Given the description of an element on the screen output the (x, y) to click on. 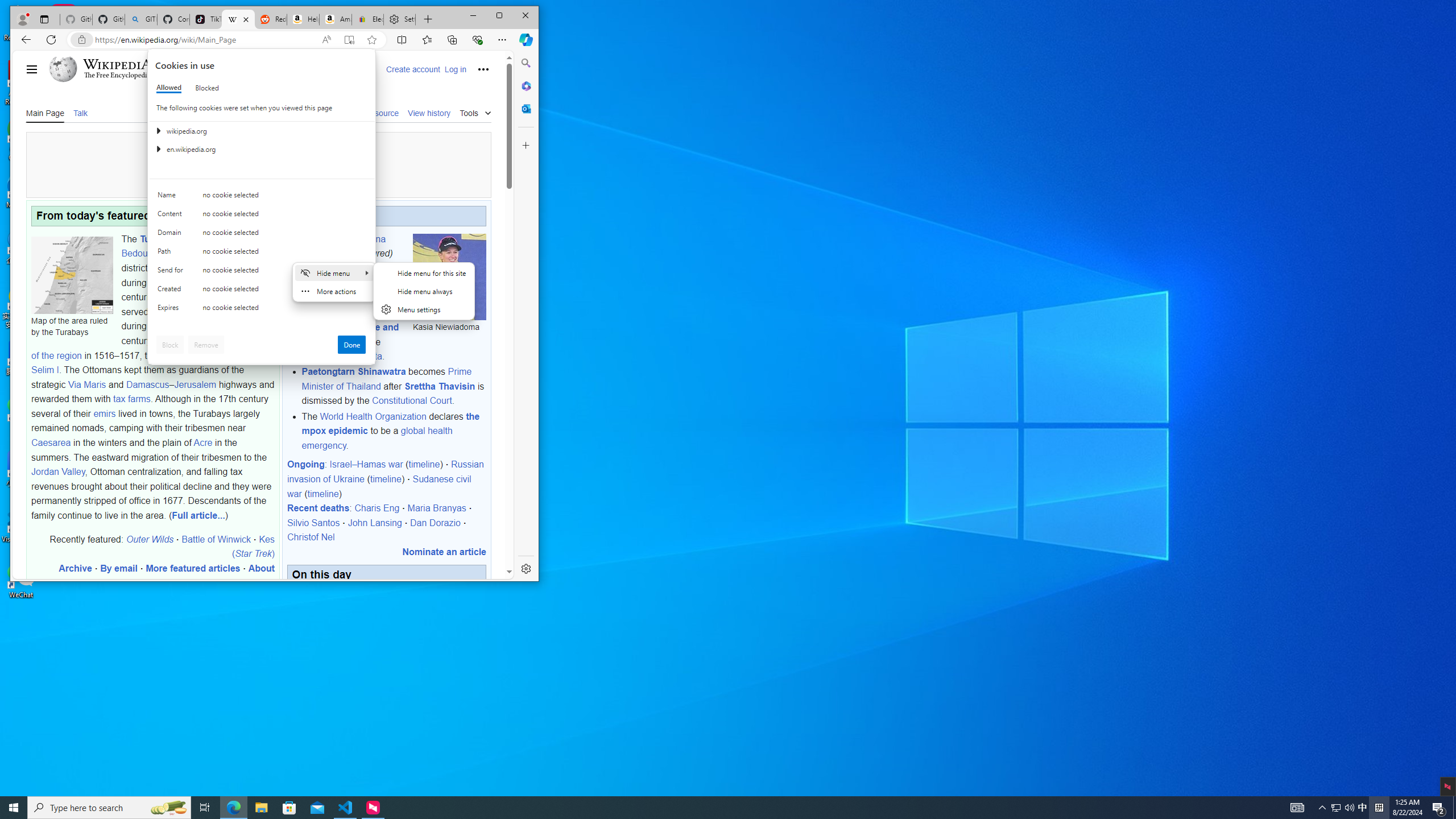
Block (169, 344)
Hide menu (333, 272)
Task View (204, 807)
Remove (205, 344)
Action Center, 2 new notifications (1439, 807)
Show desktop (1454, 807)
Created (172, 291)
Q2790: 100% (1349, 807)
AutomationID: 4105 (1297, 807)
Tray Input Indicator - Chinese (Simplified, China) (1378, 807)
More actions (333, 290)
